Given the description of an element on the screen output the (x, y) to click on. 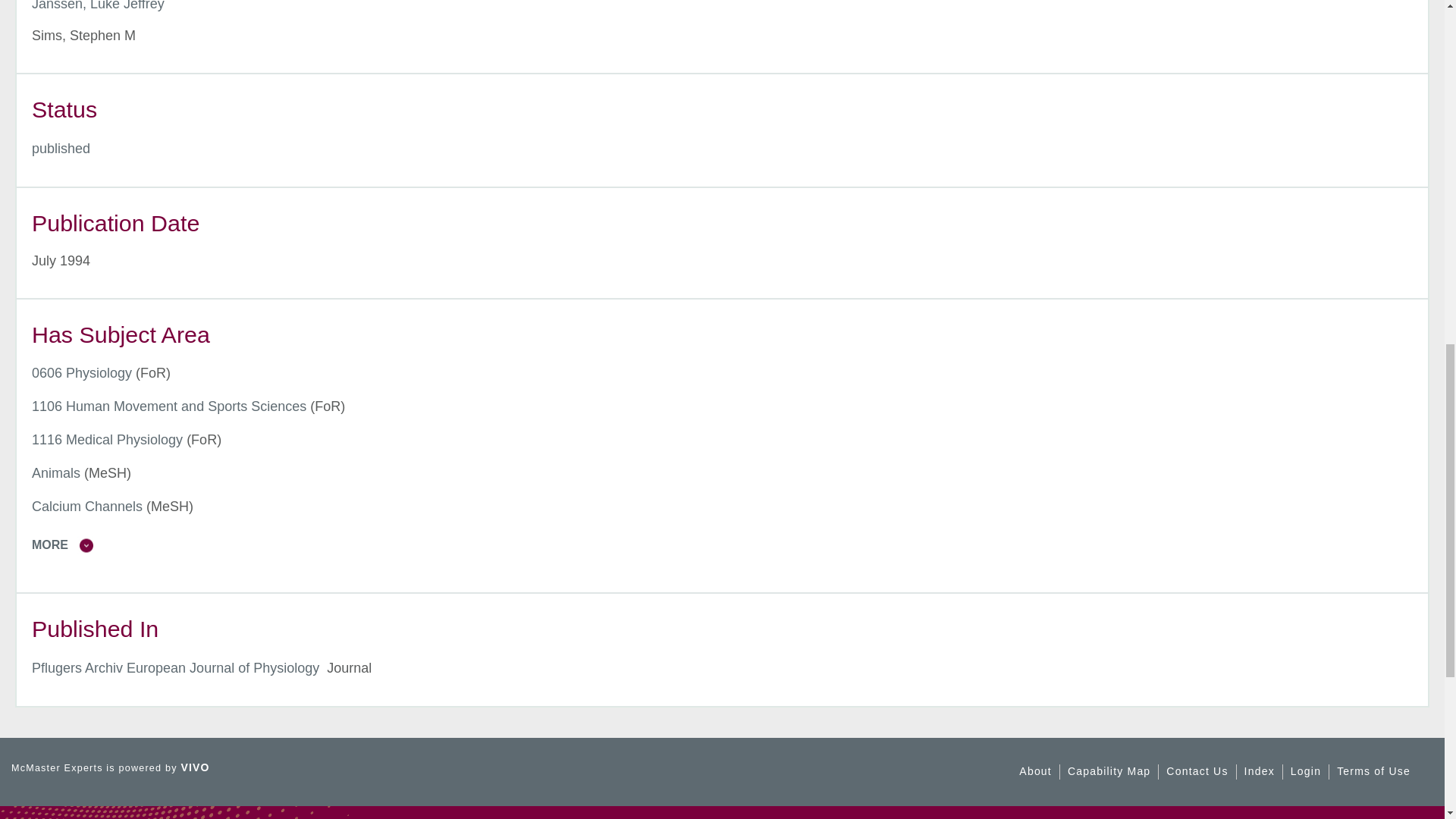
name (61, 148)
concept name (82, 372)
concept name (56, 473)
concept name (168, 406)
concept name (107, 439)
author name (98, 5)
